Given the description of an element on the screen output the (x, y) to click on. 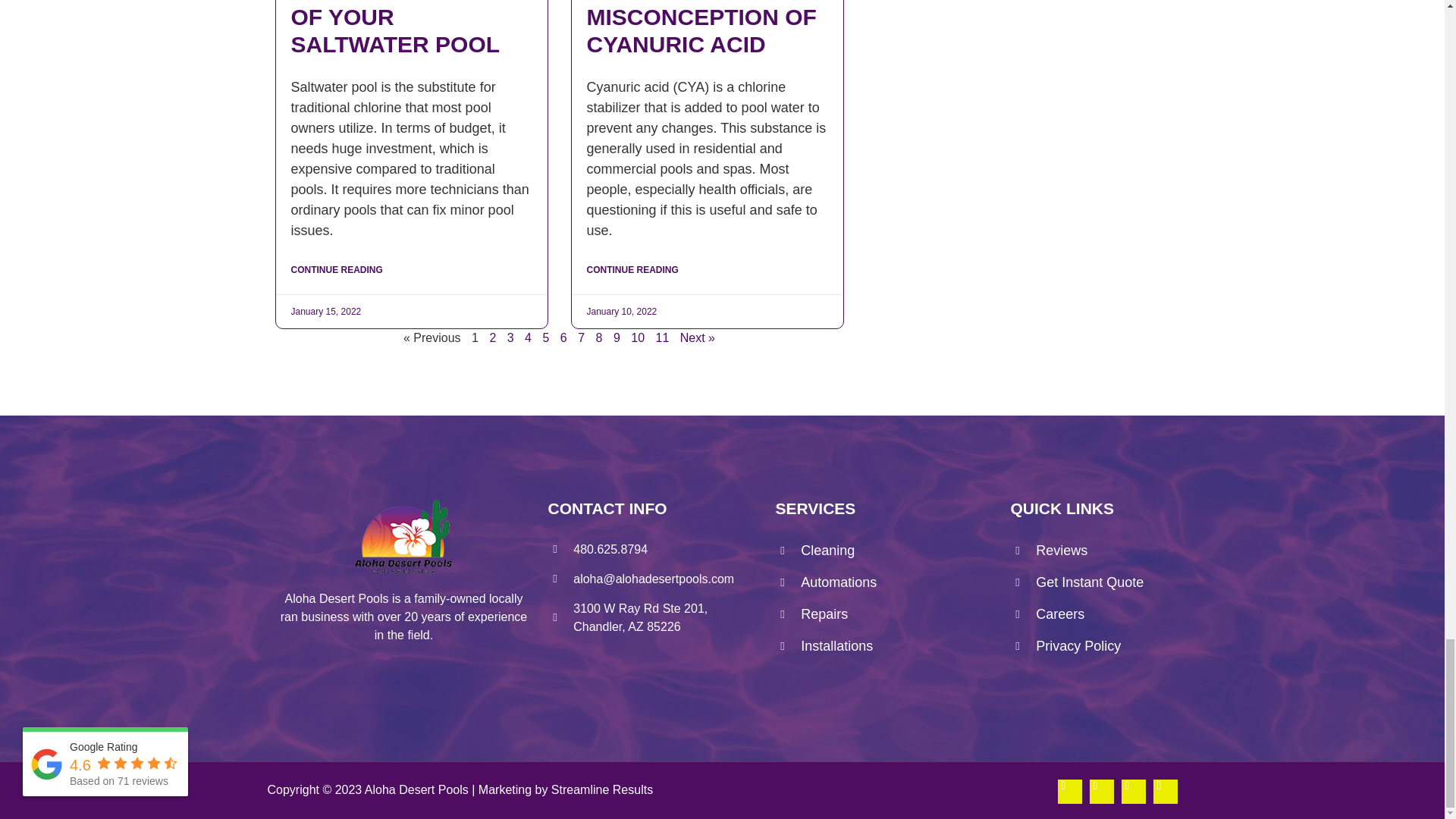
Nav Logo (402, 536)
